Given the description of an element on the screen output the (x, y) to click on. 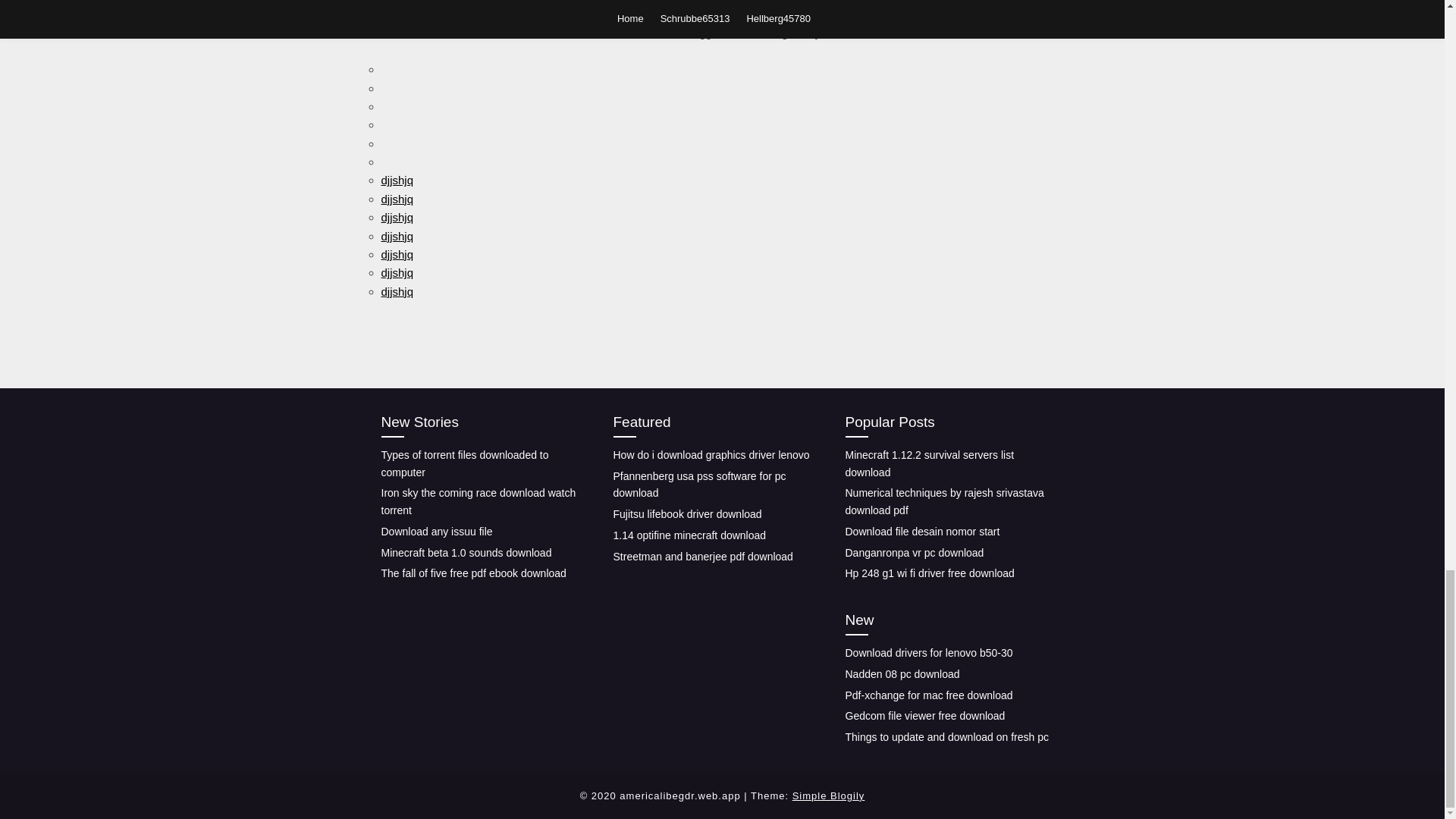
Things to update and download on fresh pc (946, 736)
Simple Blogily (828, 795)
The fall of five free pdf ebook download (473, 573)
Download any issuu file (436, 531)
djjshjq (396, 236)
Download drivers for lenovo b50-30 (927, 653)
djjshjq (396, 179)
Download file desain nomor start (921, 531)
1.14 optifine minecraft download (688, 535)
Danganronpa vr pc download (914, 552)
Minecraft beta 1.0 sounds download (465, 552)
Numerical techniques by rajesh srivastava download pdf (943, 501)
djjshjq (396, 216)
How do i download graphics driver lenovo (710, 454)
Streetman and banerjee pdf download (702, 556)
